Given the description of an element on the screen output the (x, y) to click on. 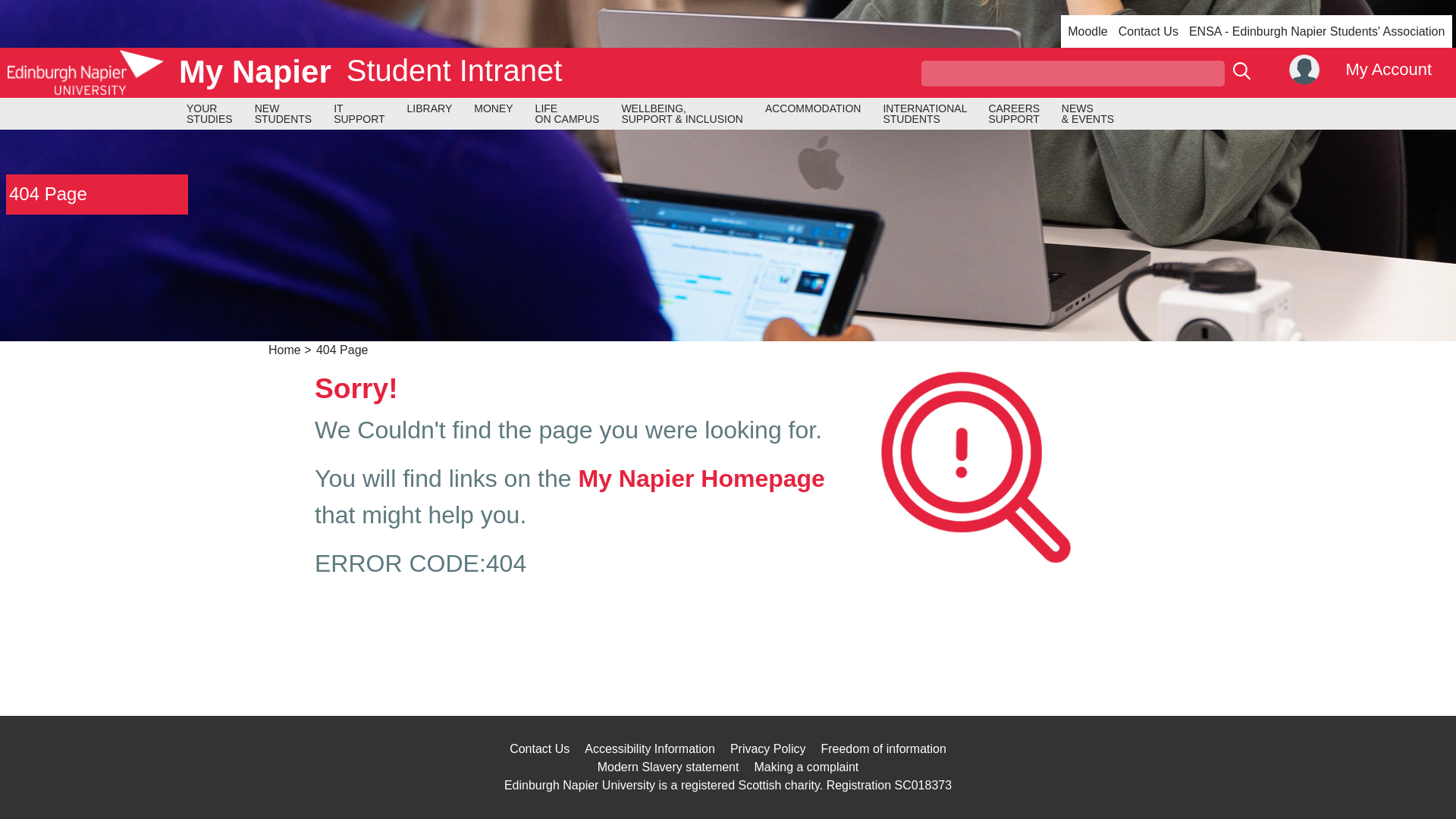
ACCOMMODATION (813, 108)
ENSA - Edinburgh Napier Students' Association (1316, 31)
LIBRARY (429, 108)
404 Page (47, 193)
My Account (1361, 70)
Contact Us (359, 113)
My Napier Homepage (1147, 31)
Contact Us (701, 478)
